Given the description of an element on the screen output the (x, y) to click on. 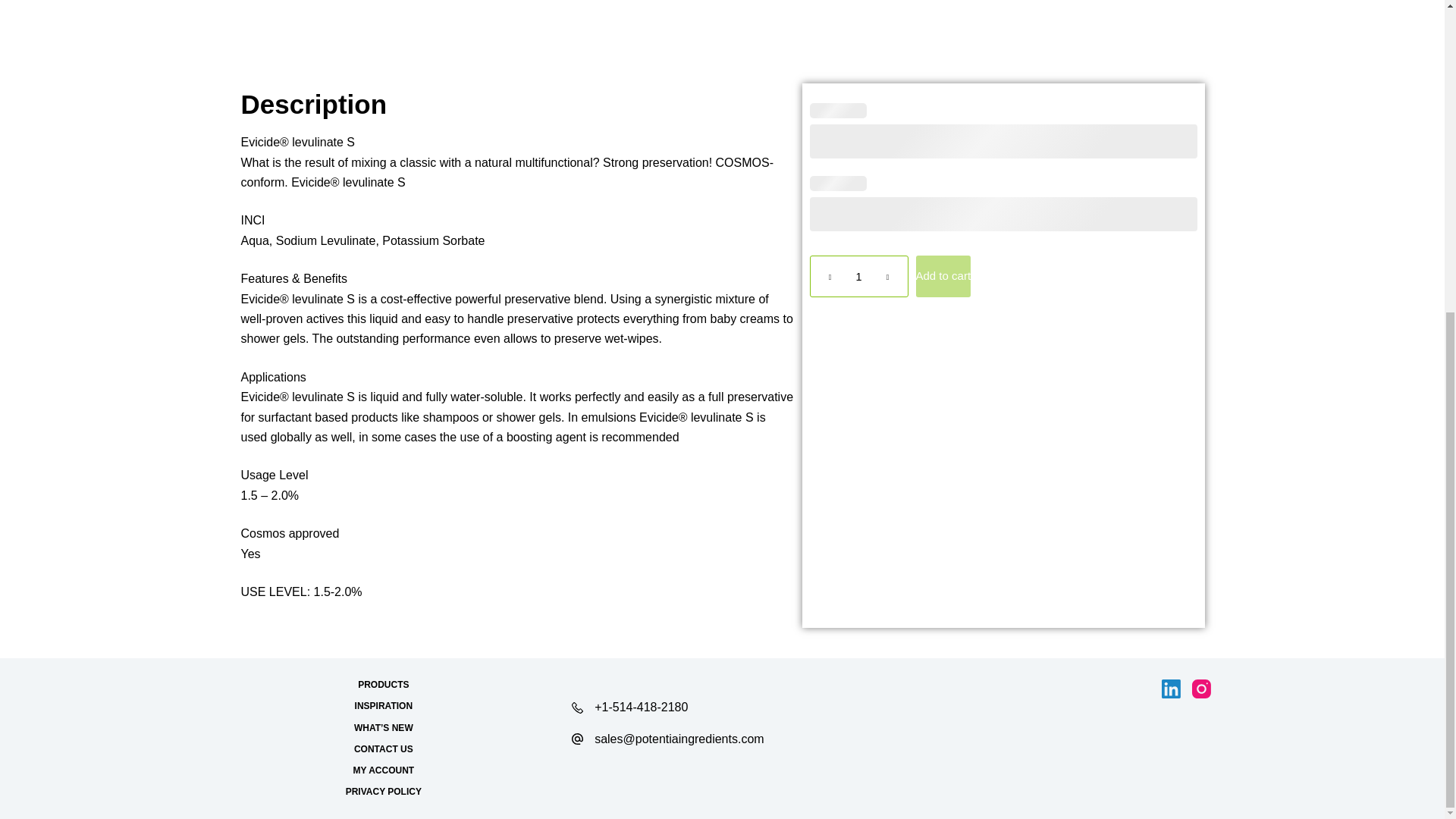
Add to cart (943, 276)
PRODUCTS (383, 685)
1 (858, 276)
